Given the description of an element on the screen output the (x, y) to click on. 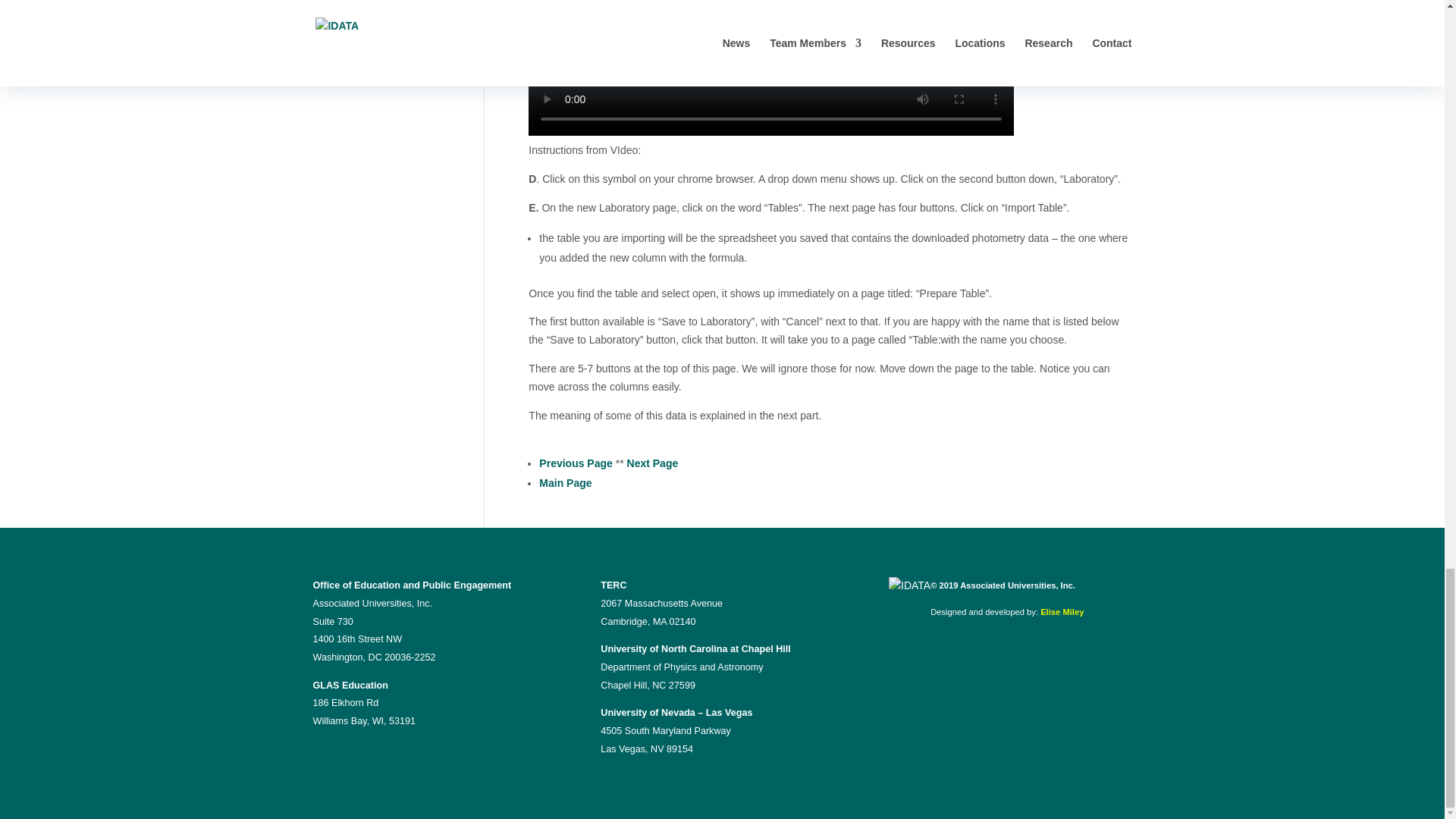
Elise Miley (1062, 611)
Previous Page (575, 463)
Next Page (652, 463)
Main Page (564, 482)
IDATA (909, 586)
